Given the description of an element on the screen output the (x, y) to click on. 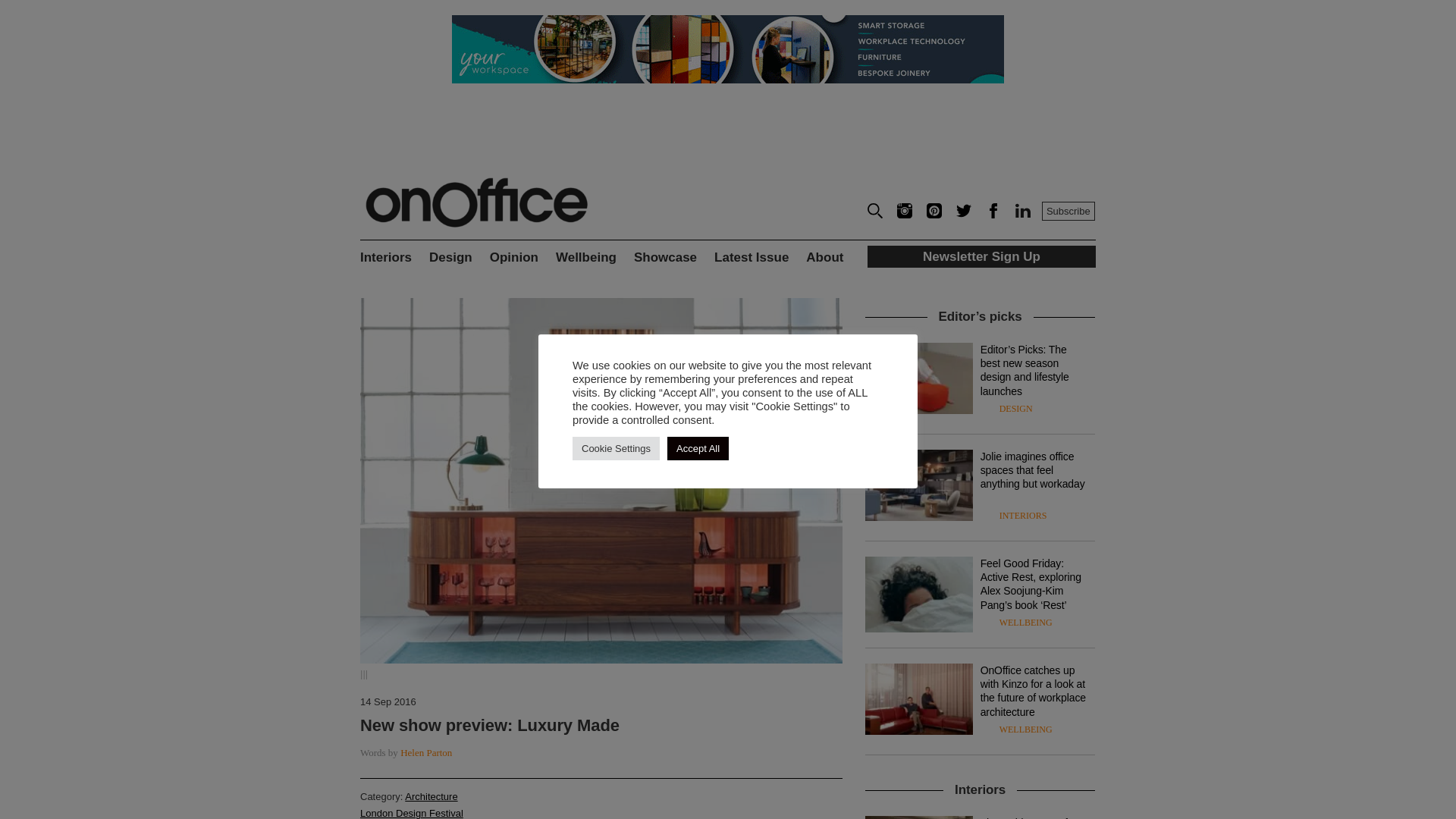
Linkedin A solid styled icon from Orion Icon Library. (1022, 210)
Opinion (522, 261)
INTERIORS (1022, 515)
About (836, 261)
Subscribe (1068, 211)
Helen Parton (425, 752)
Newsletter Sign Up (981, 256)
Posts by Helen Parton (425, 752)
Architecture (430, 796)
London Design Festival (411, 813)
Showcase (673, 261)
DESIGN (1015, 408)
Latest Issue (760, 261)
Interiors (394, 261)
Linkedin A solid styled icon from Orion Icon Library. (1022, 214)
